Given the description of an element on the screen output the (x, y) to click on. 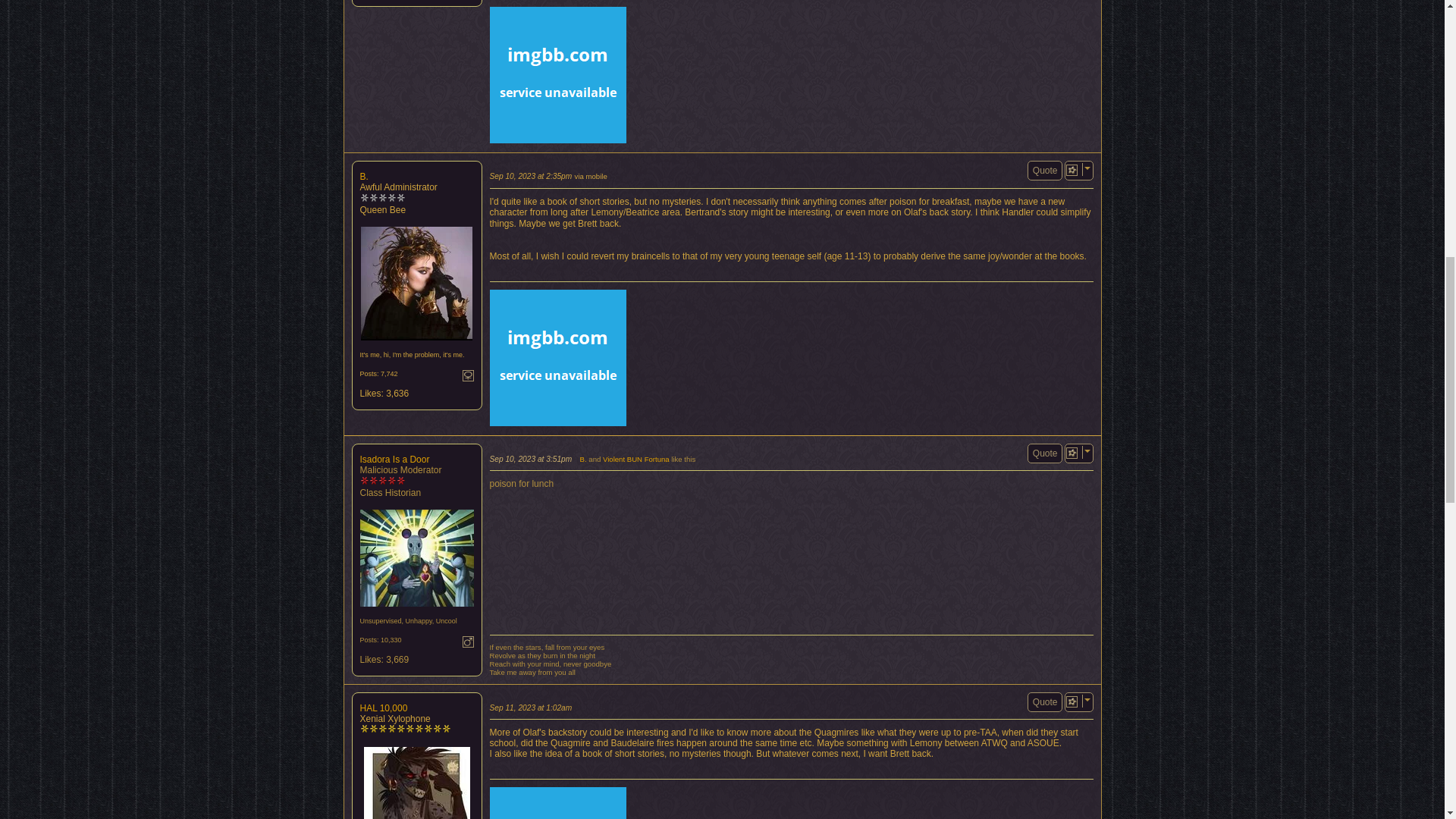
Male (468, 641)
Female (468, 375)
B. (416, 283)
Post Options (1071, 170)
Isadora Is a Door (416, 557)
